Given the description of an element on the screen output the (x, y) to click on. 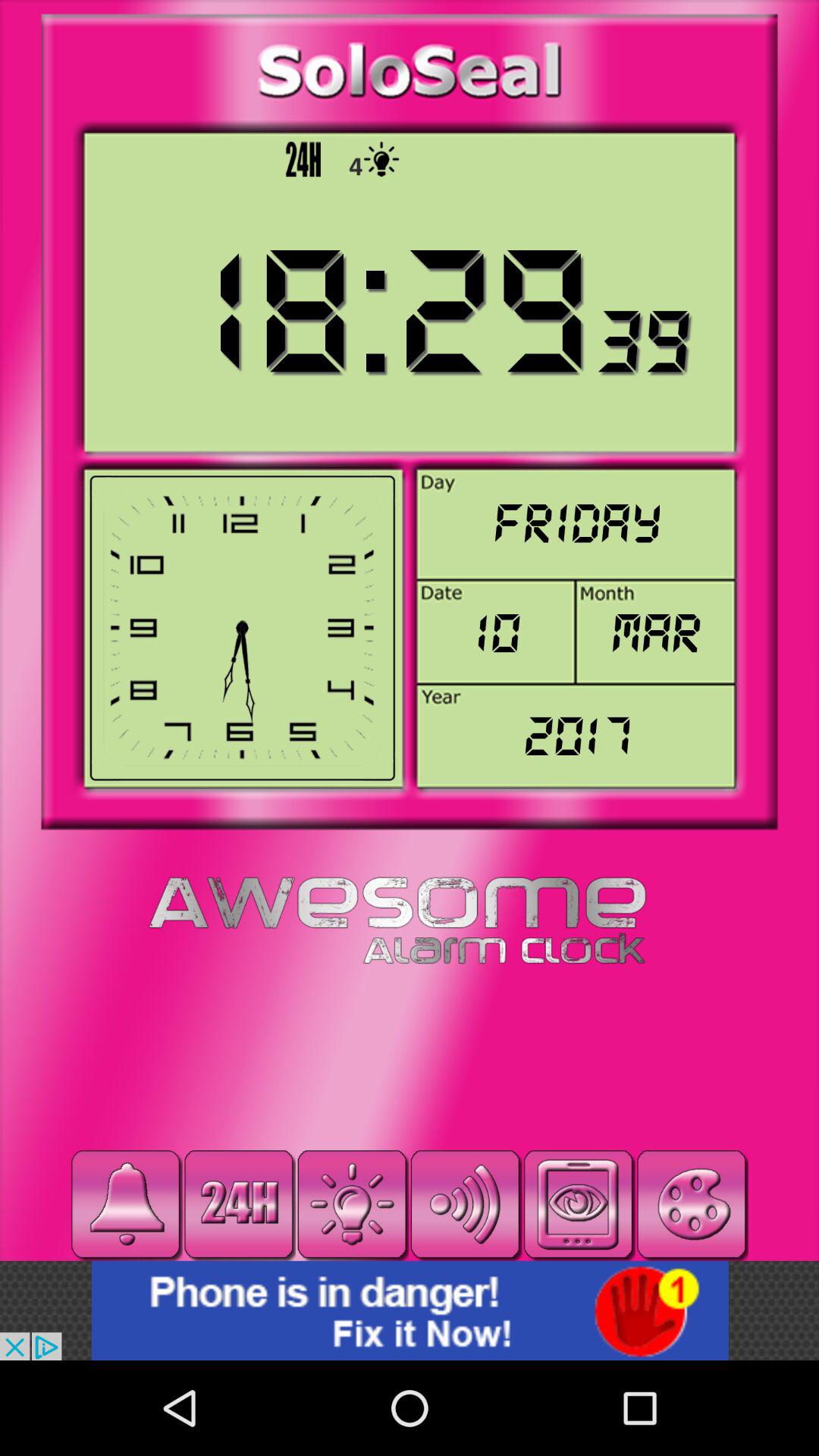
go to color palette (691, 1203)
